Given the description of an element on the screen output the (x, y) to click on. 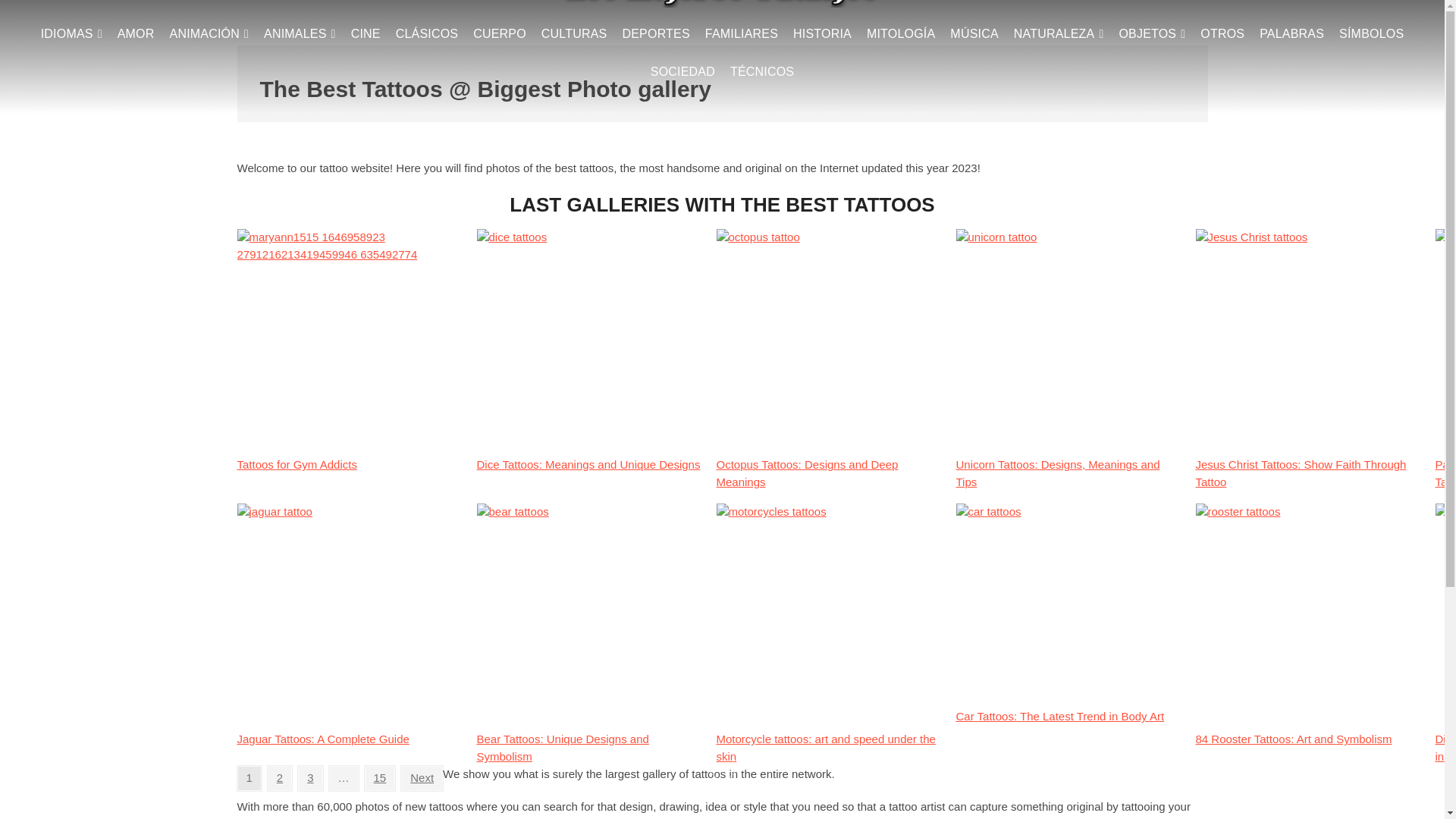
ANIMALES (299, 34)
HISTORIA (822, 34)
PALABRAS (1292, 34)
84 Rooster Tattoos: Art and Symbolism 11 (1308, 617)
Bear Tattoos: Unique Designs and Symbolism 8 (589, 617)
CUERPO (499, 34)
OBJETOS (1151, 34)
CINE (365, 34)
Tattoos for Gym Addicts (349, 465)
DEPORTES (655, 34)
Tattoos for Gym Addicts 1 (349, 342)
OTROS (1222, 34)
Octopus Tattoos: Designs and Deep Meanings 3 (829, 342)
FAMILIARES (741, 34)
AMOR (135, 34)
